Given the description of an element on the screen output the (x, y) to click on. 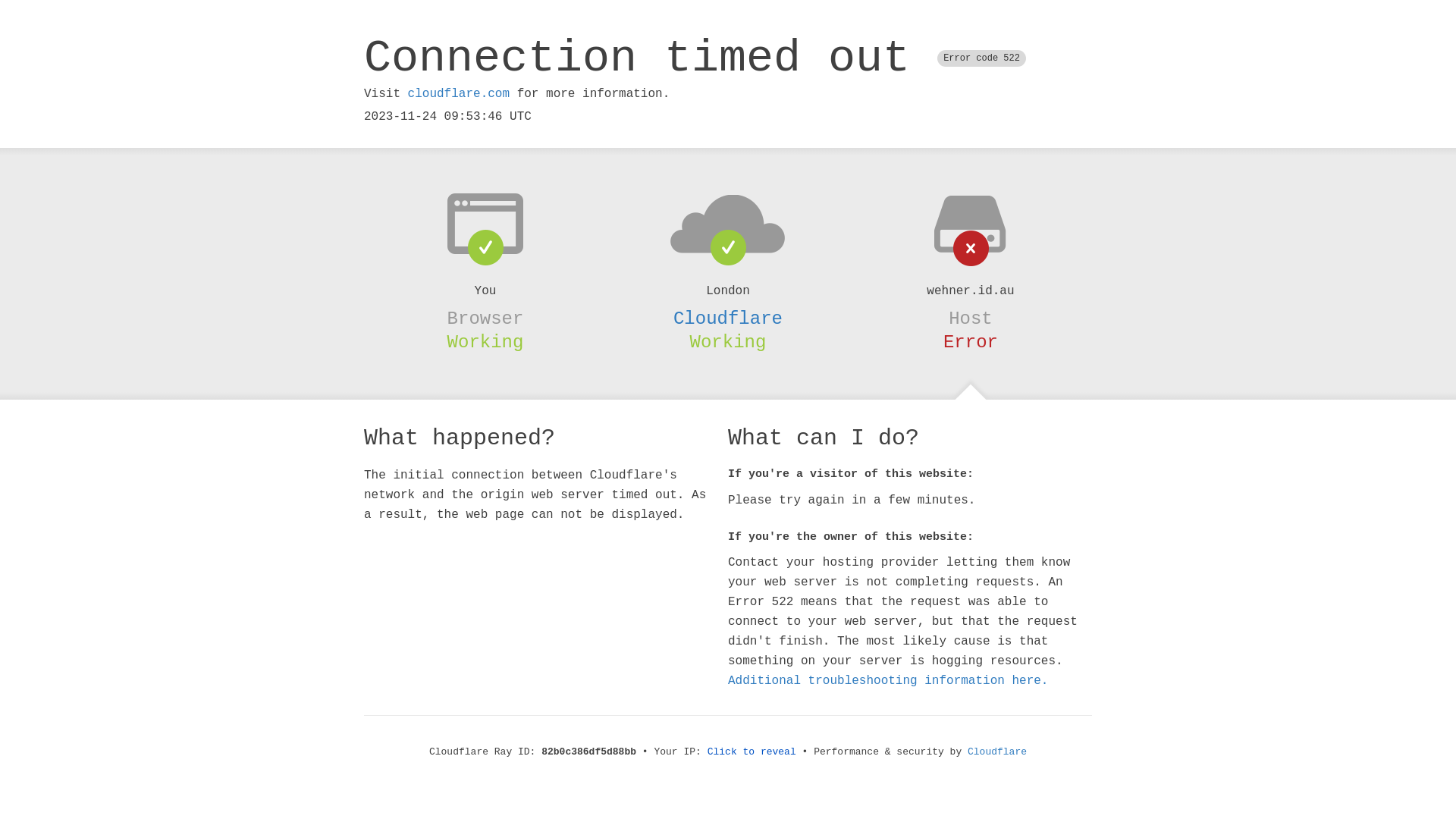
Cloudflare Element type: text (727, 318)
cloudflare.com Element type: text (458, 93)
Additional troubleshooting information here. Element type: text (888, 680)
Click to reveal Element type: text (751, 751)
Cloudflare Element type: text (996, 751)
